Given the description of an element on the screen output the (x, y) to click on. 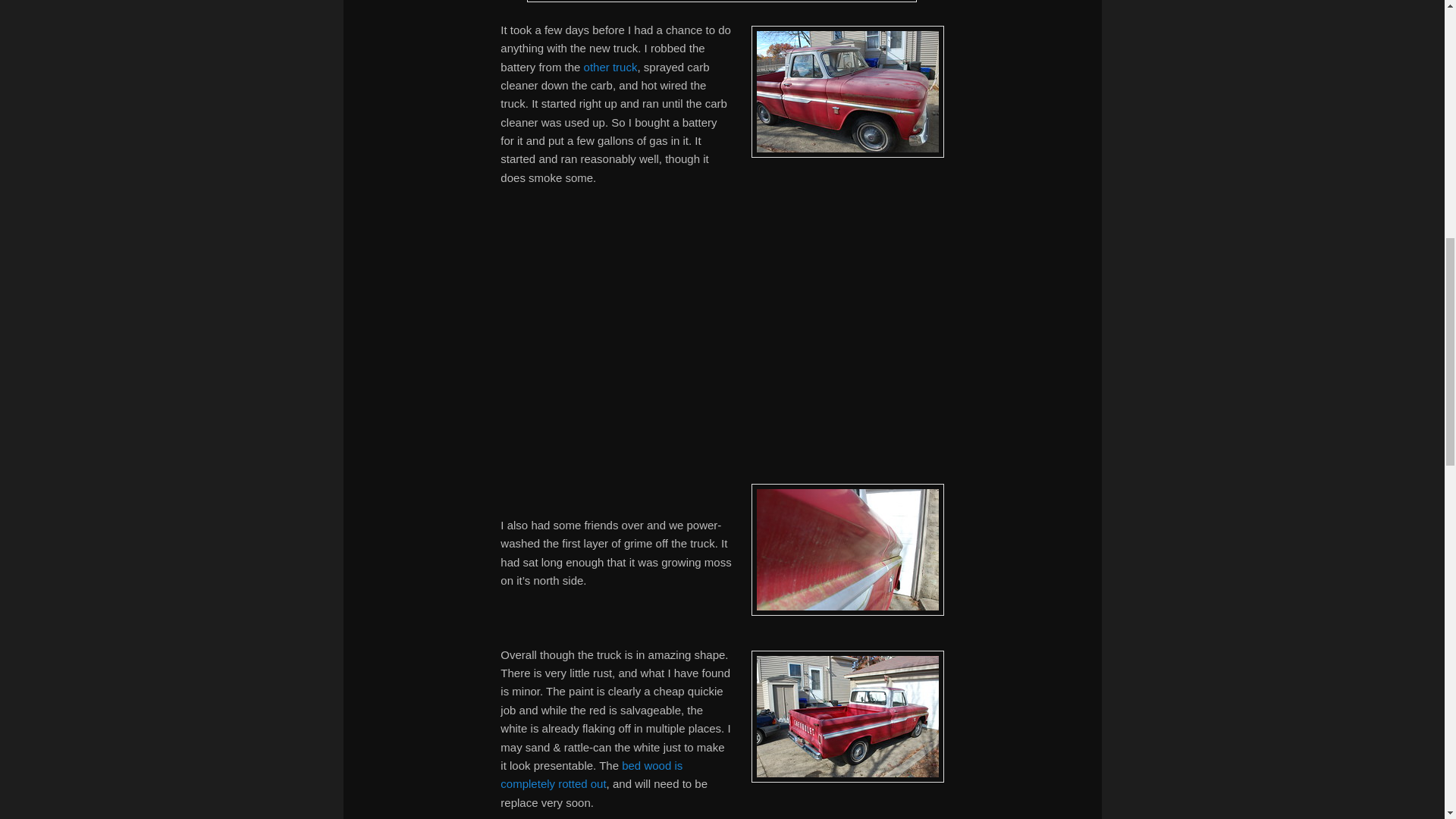
other truck (610, 66)
bed wood is completely rotted out (591, 774)
